Given the description of an element on the screen output the (x, y) to click on. 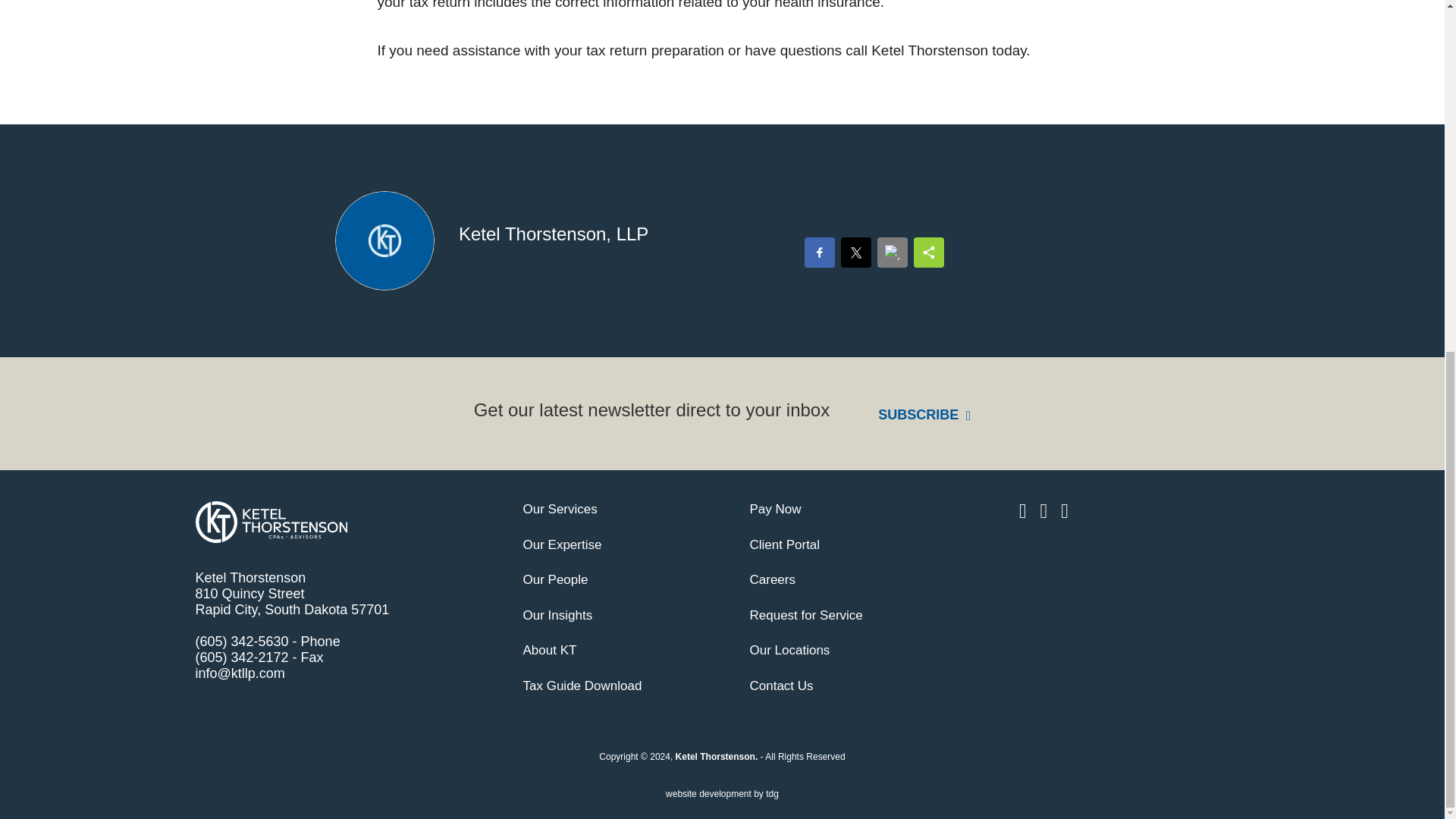
linkedin (1024, 510)
instagram (1046, 510)
Default Headshot (383, 240)
